Given the description of an element on the screen output the (x, y) to click on. 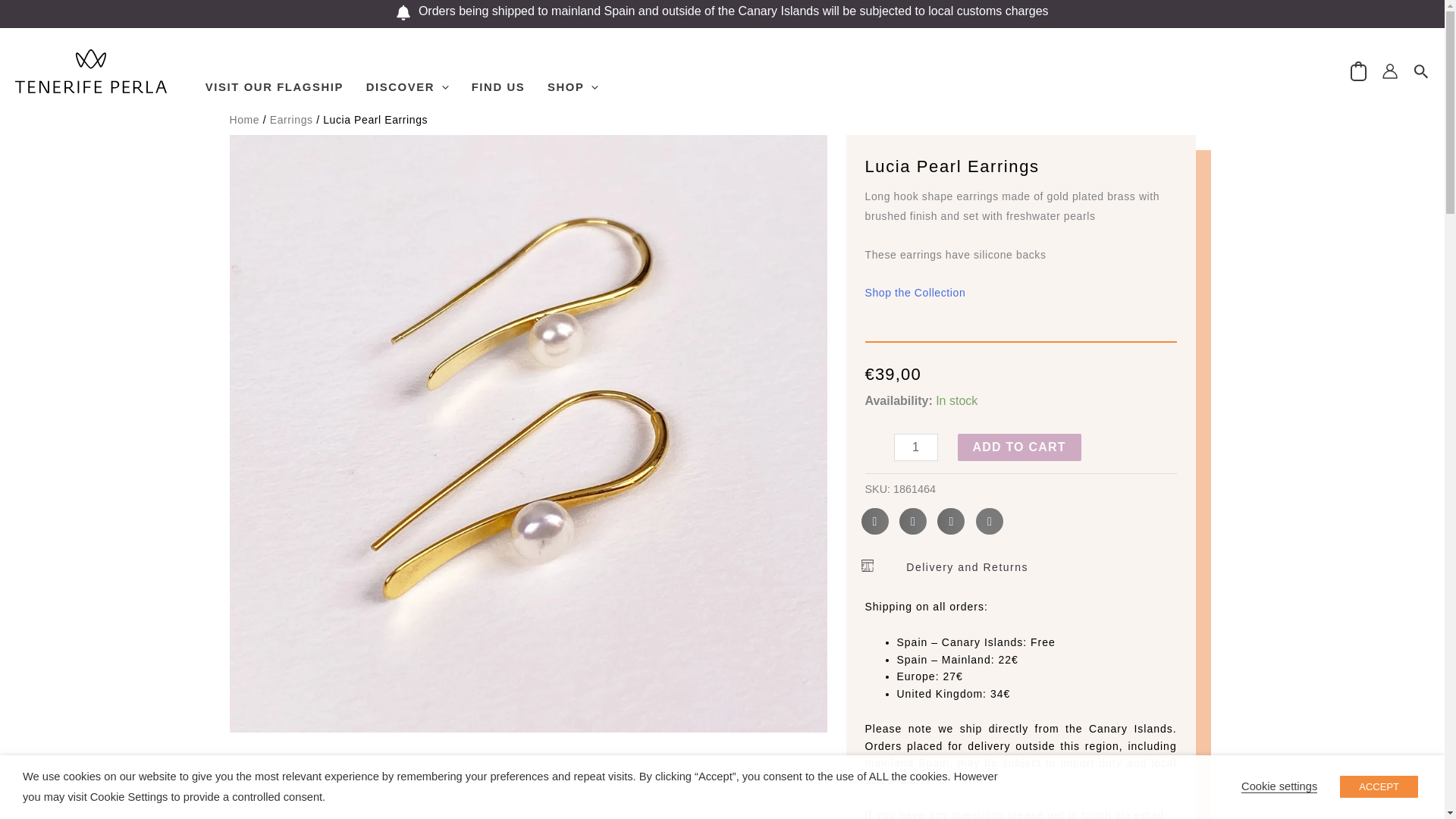
VISIT OUR FLAGSHIP (274, 71)
FIND US (497, 71)
1 (915, 447)
DISCOVER (407, 71)
